Given the description of an element on the screen output the (x, y) to click on. 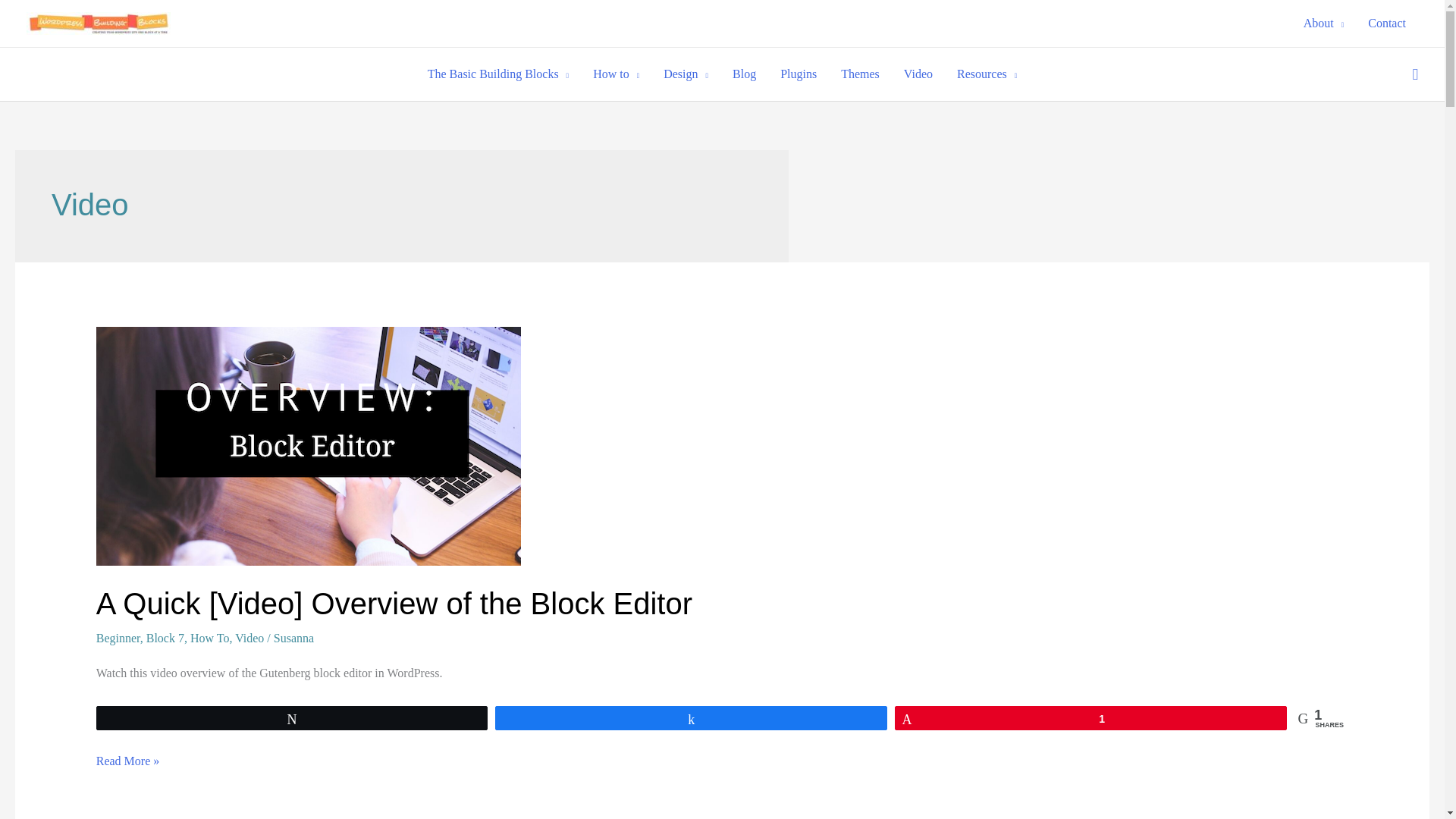
How to (615, 73)
About (1323, 23)
View all posts by Susanna (293, 637)
Contact (1386, 23)
The Basic Building Blocks (497, 73)
Design (685, 73)
